Given the description of an element on the screen output the (x, y) to click on. 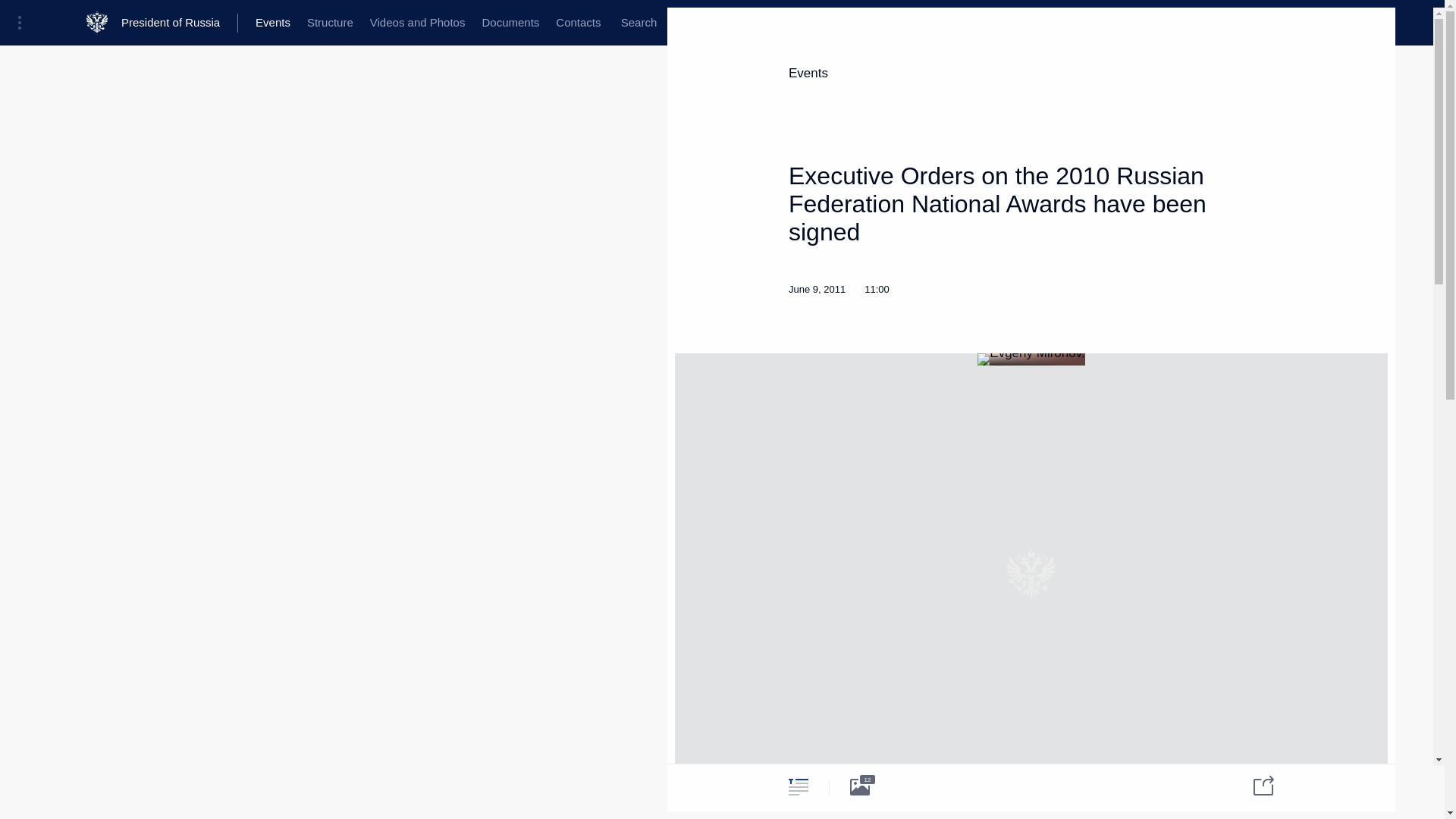
Documents (510, 22)
Search (638, 22)
Global website search (638, 22)
Structure (329, 22)
President of Russia (179, 22)
Events (272, 22)
Share (1253, 784)
Events (808, 73)
Portal Menu (24, 22)
